Given the description of an element on the screen output the (x, y) to click on. 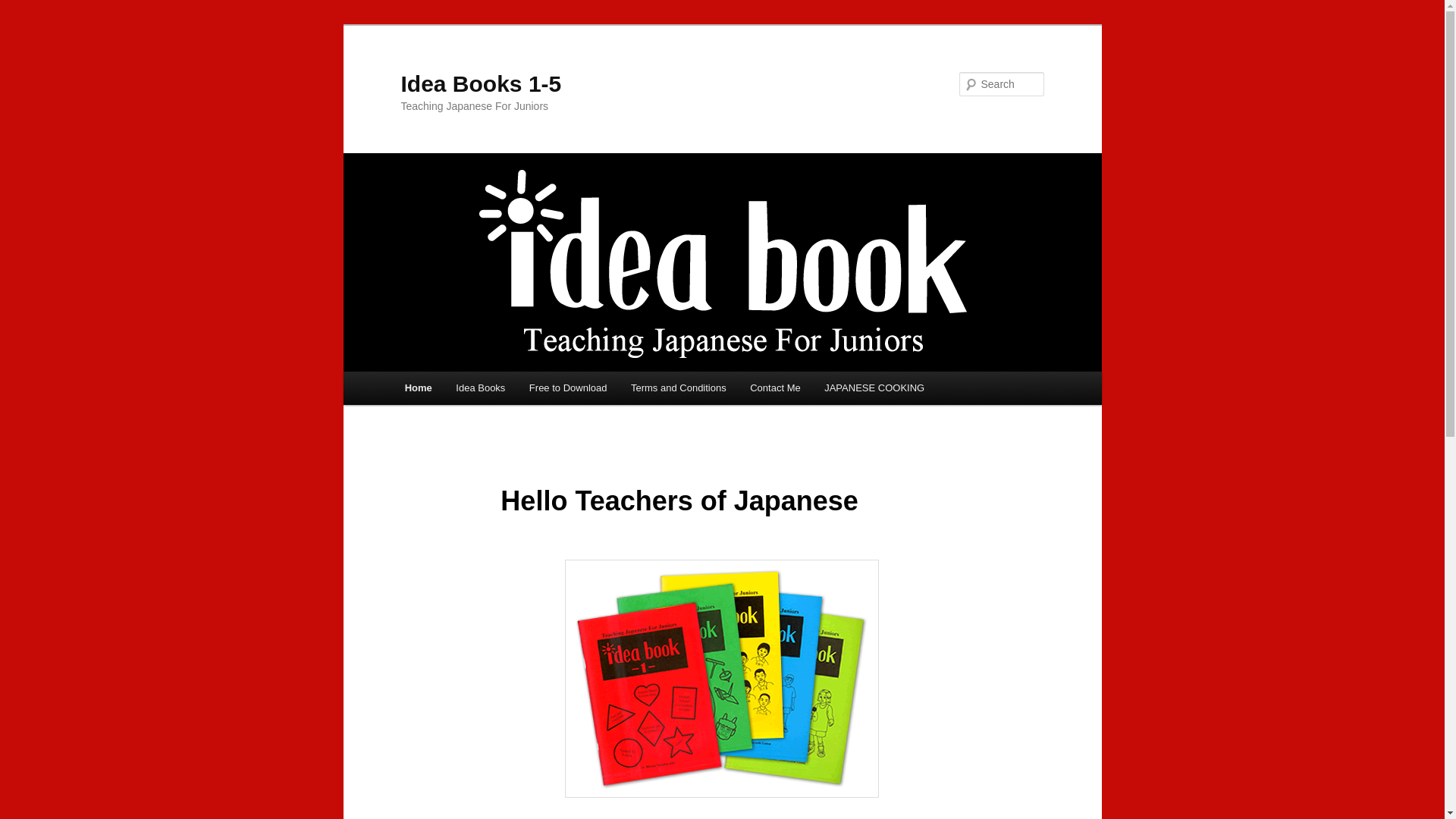
Search (25, 9)
JAPANESE COOKING (874, 387)
Contact Me (775, 387)
Idea Books (481, 387)
Terms and Conditions (678, 387)
Free to Download (567, 387)
home (418, 387)
Idea Books 1-5 (480, 83)
Home (418, 387)
